Given the description of an element on the screen output the (x, y) to click on. 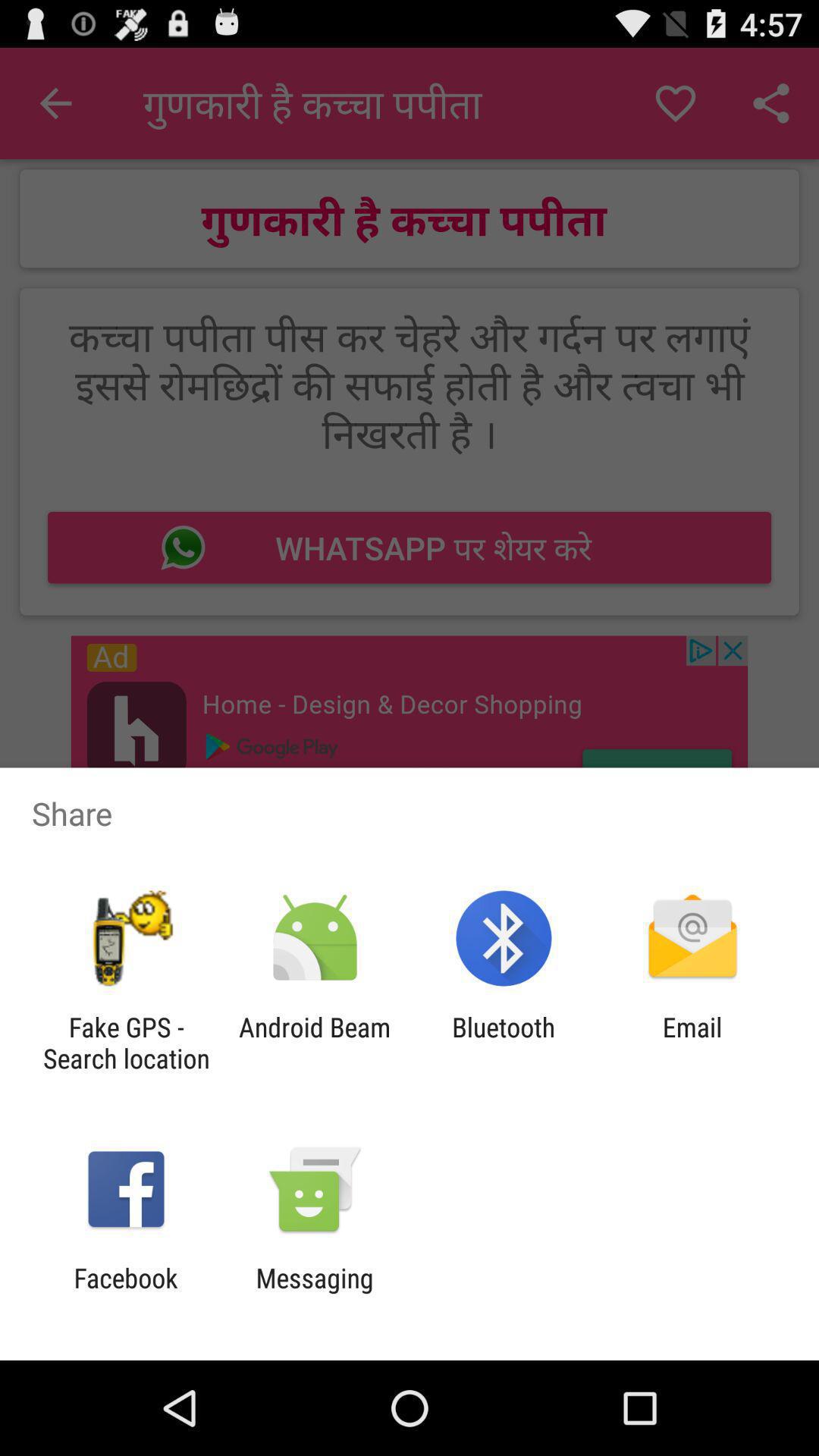
select app to the right of fake gps search item (314, 1042)
